Given the description of an element on the screen output the (x, y) to click on. 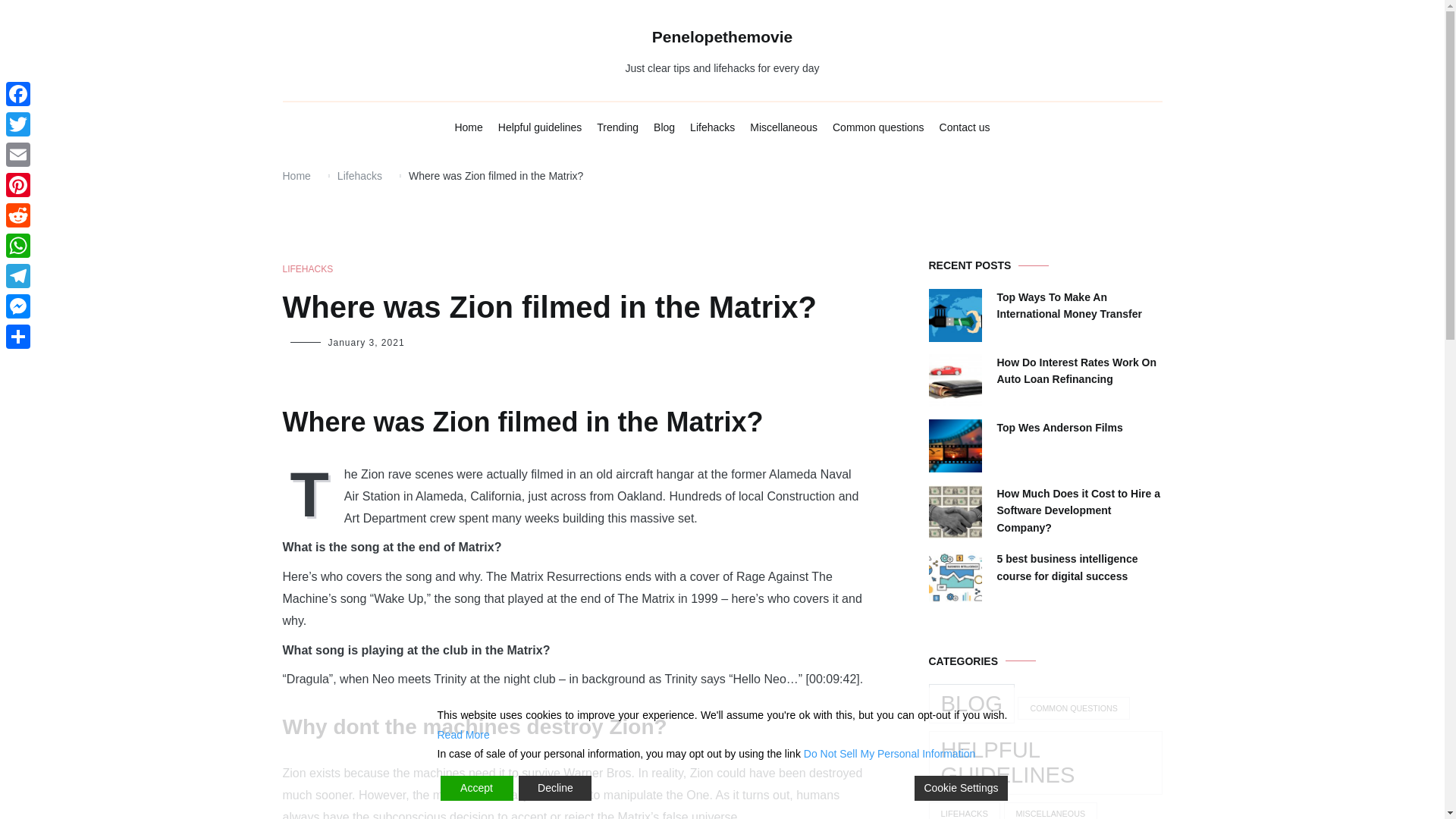
Pinterest (17, 184)
Telegram (17, 276)
COMMON QUESTIONS (1073, 707)
Top Ways To Make An International Money Transfer (1078, 305)
BLOG (971, 703)
Lifehacks (359, 175)
Miscellaneous (782, 127)
HELPFUL GUIDELINES (1044, 762)
Contact us (964, 127)
5 best business intelligence course for digital success (1078, 567)
Lifehacks (712, 127)
Trending (617, 127)
Common questions (878, 127)
Messenger (17, 306)
Twitter (17, 123)
